Given the description of an element on the screen output the (x, y) to click on. 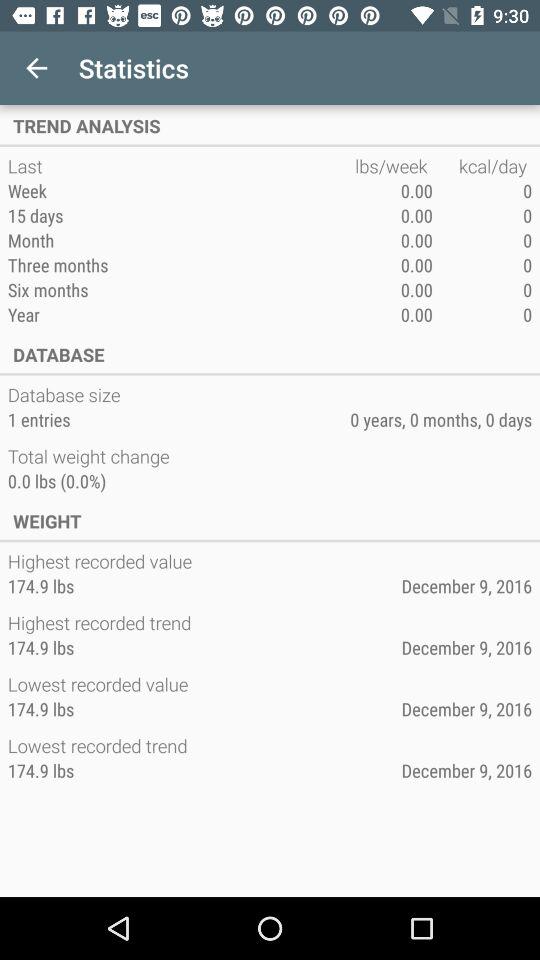
click the item above the trend analysis app (36, 68)
